Given the description of an element on the screen output the (x, y) to click on. 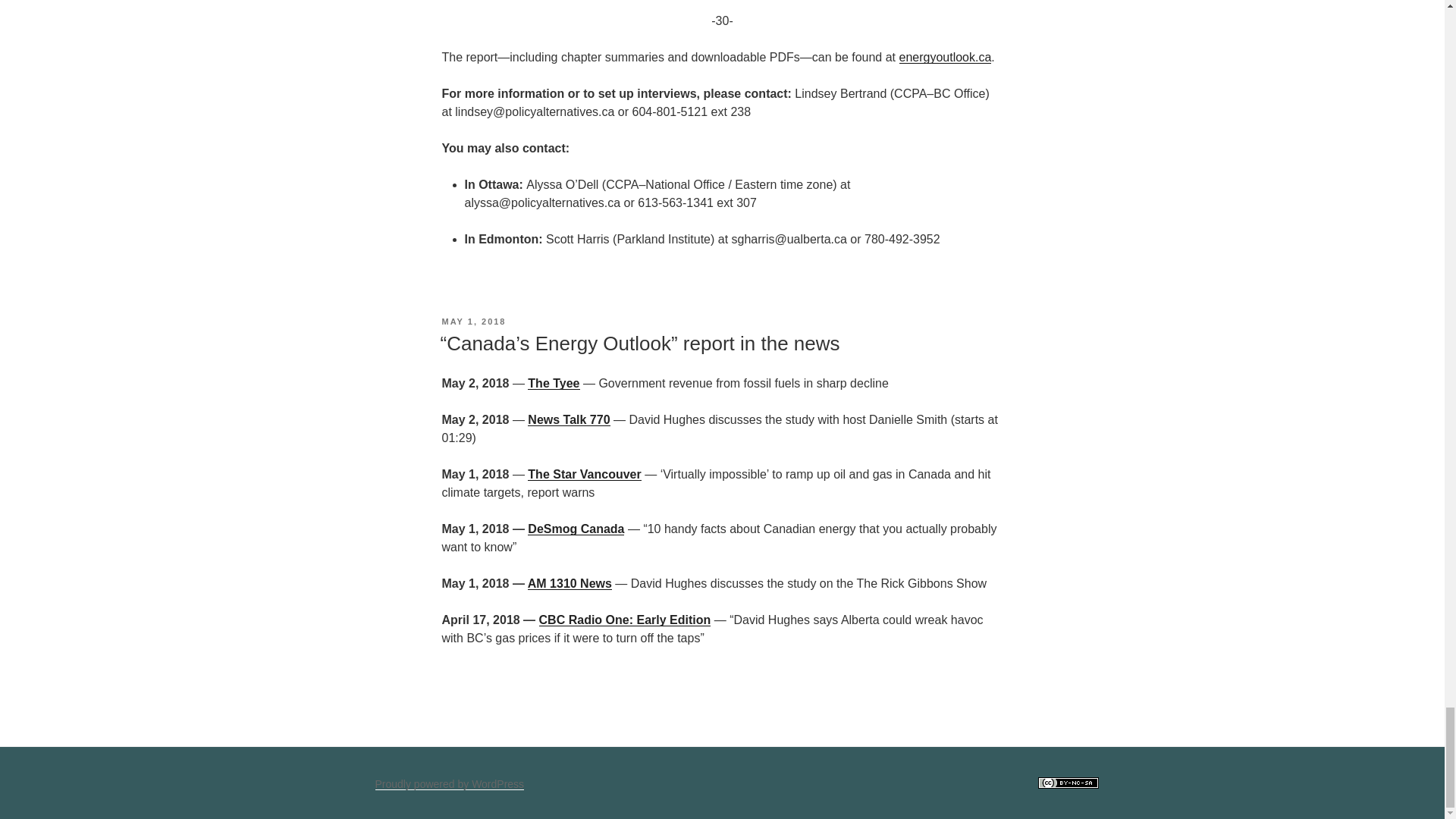
News Talk 770 (568, 419)
AM 1310 News (569, 583)
CBC Radio One: Early Edition (624, 619)
The Star Vancouver (583, 473)
energyoutlook.ca (945, 56)
The Tyee (553, 382)
Proudly powered by WordPress (449, 784)
DeSmog Canada (575, 528)
MAY 1, 2018 (473, 320)
